Given the description of an element on the screen output the (x, y) to click on. 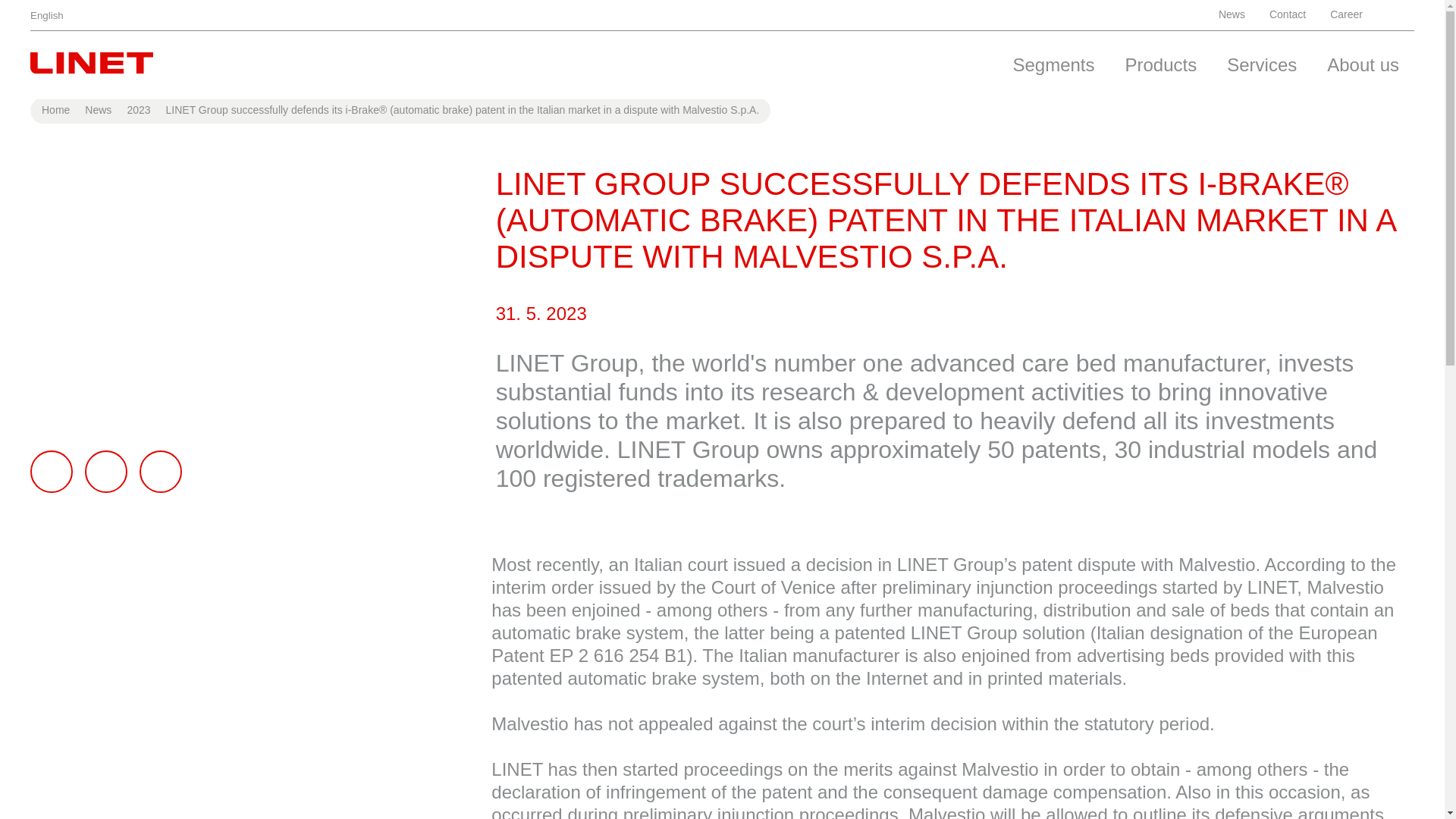
News (1231, 14)
Contact (1287, 14)
Career (1350, 14)
English (55, 15)
